Given the description of an element on the screen output the (x, y) to click on. 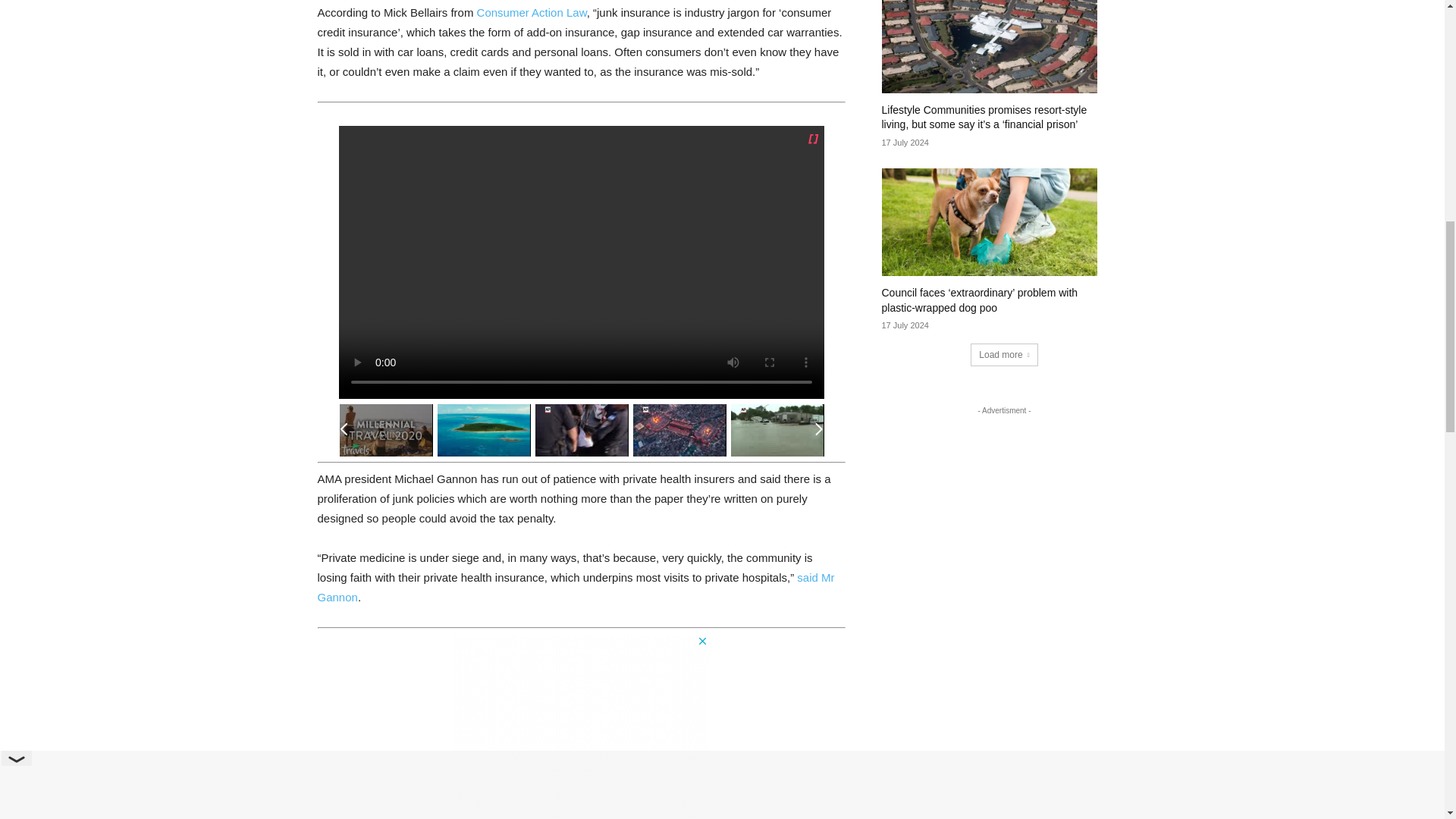
3rd party ad content (579, 726)
